Given the description of an element on the screen output the (x, y) to click on. 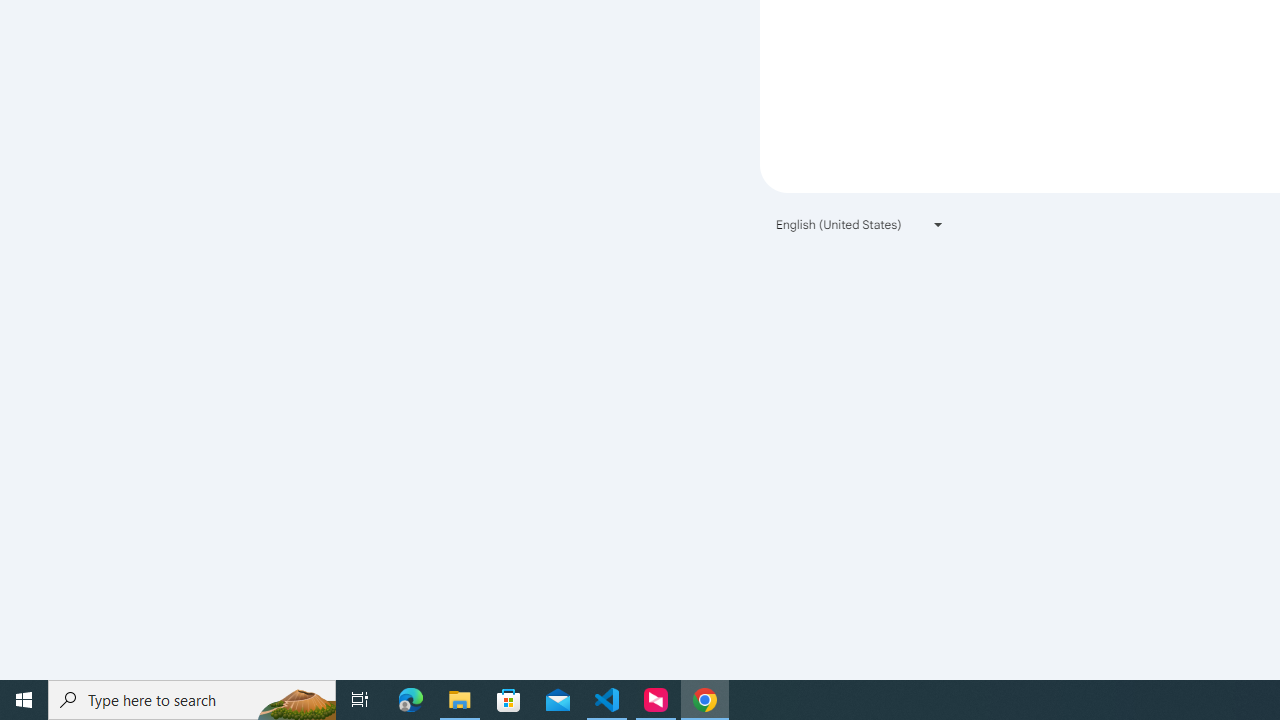
English (United States) (860, 224)
